Given the description of an element on the screen output the (x, y) to click on. 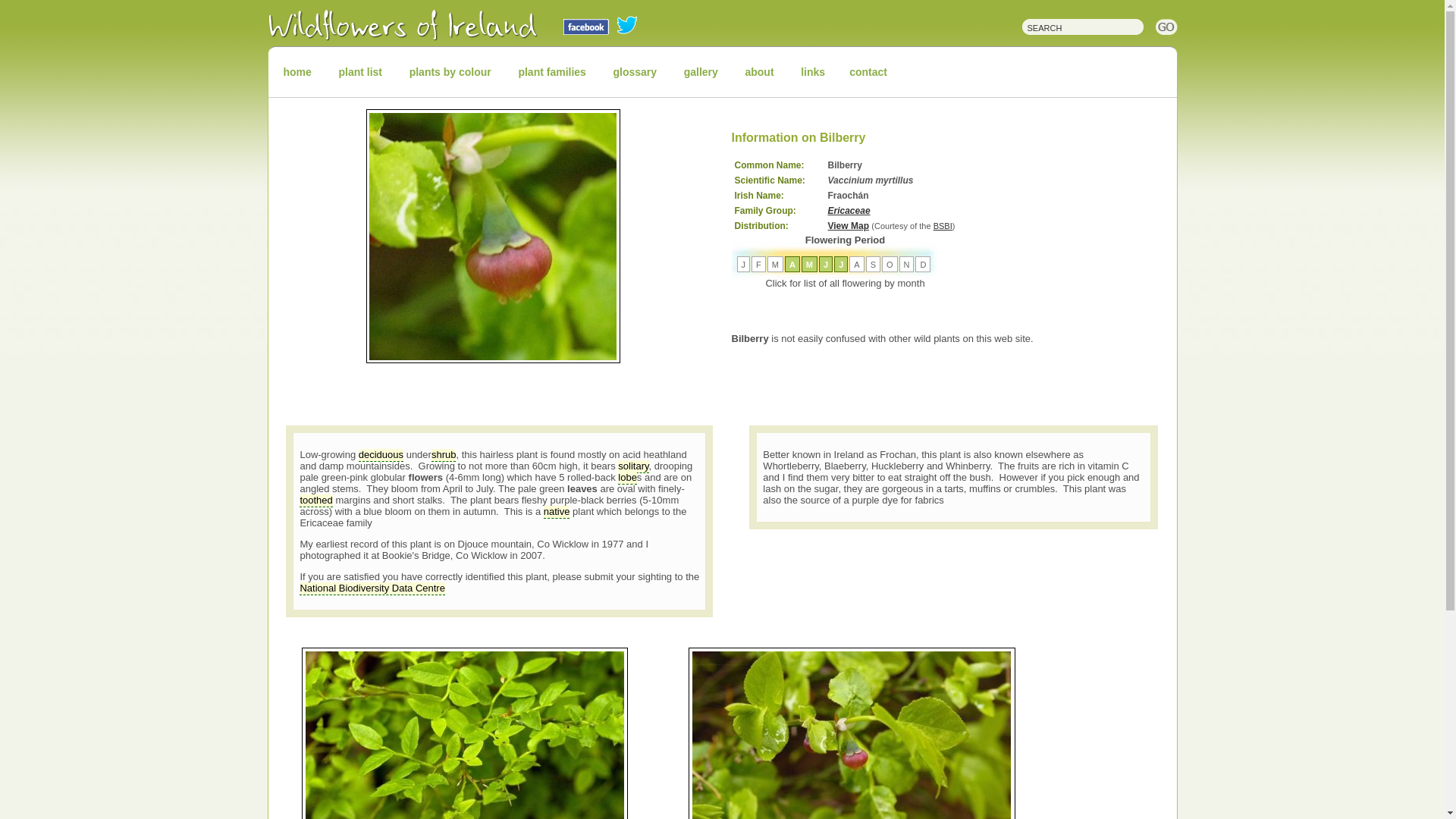
Ericaceae (849, 210)
BSBI (942, 225)
glossary (633, 71)
links (813, 71)
about (759, 71)
SEARCH (1075, 25)
plant families (550, 71)
home (296, 71)
plants by colour (450, 71)
